Given the description of an element on the screen output the (x, y) to click on. 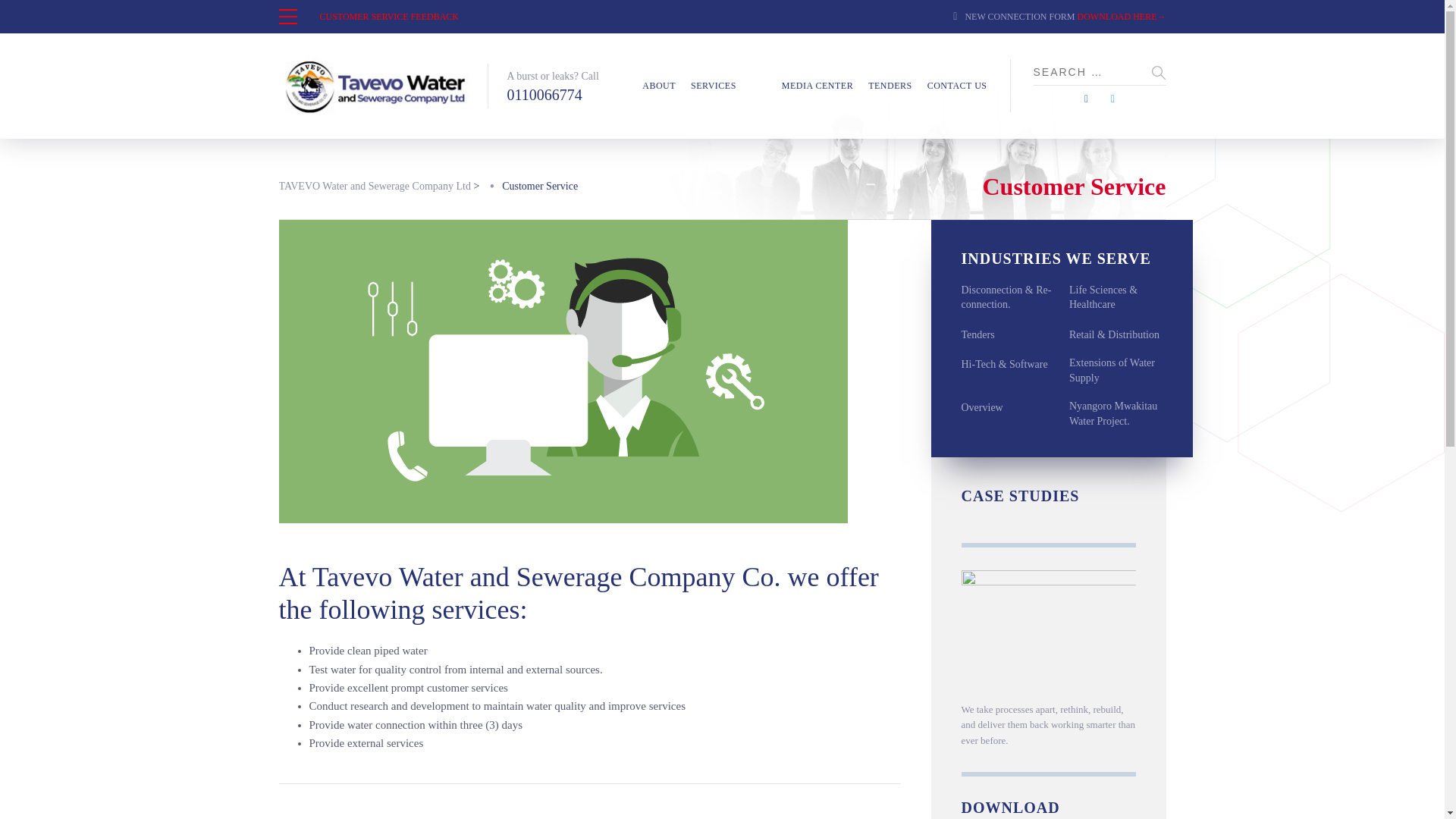
0110066774 (552, 94)
SERVICES (713, 85)
Search (1158, 72)
MEDIA CENTER (817, 85)
CONTACT US (957, 85)
Go to TAVEVO Water and Sewerage Company Ltd. (374, 186)
Search (1158, 72)
Search (1158, 72)
CUSTOMER SERVICE FEEDBACK (390, 16)
